Given the description of an element on the screen output the (x, y) to click on. 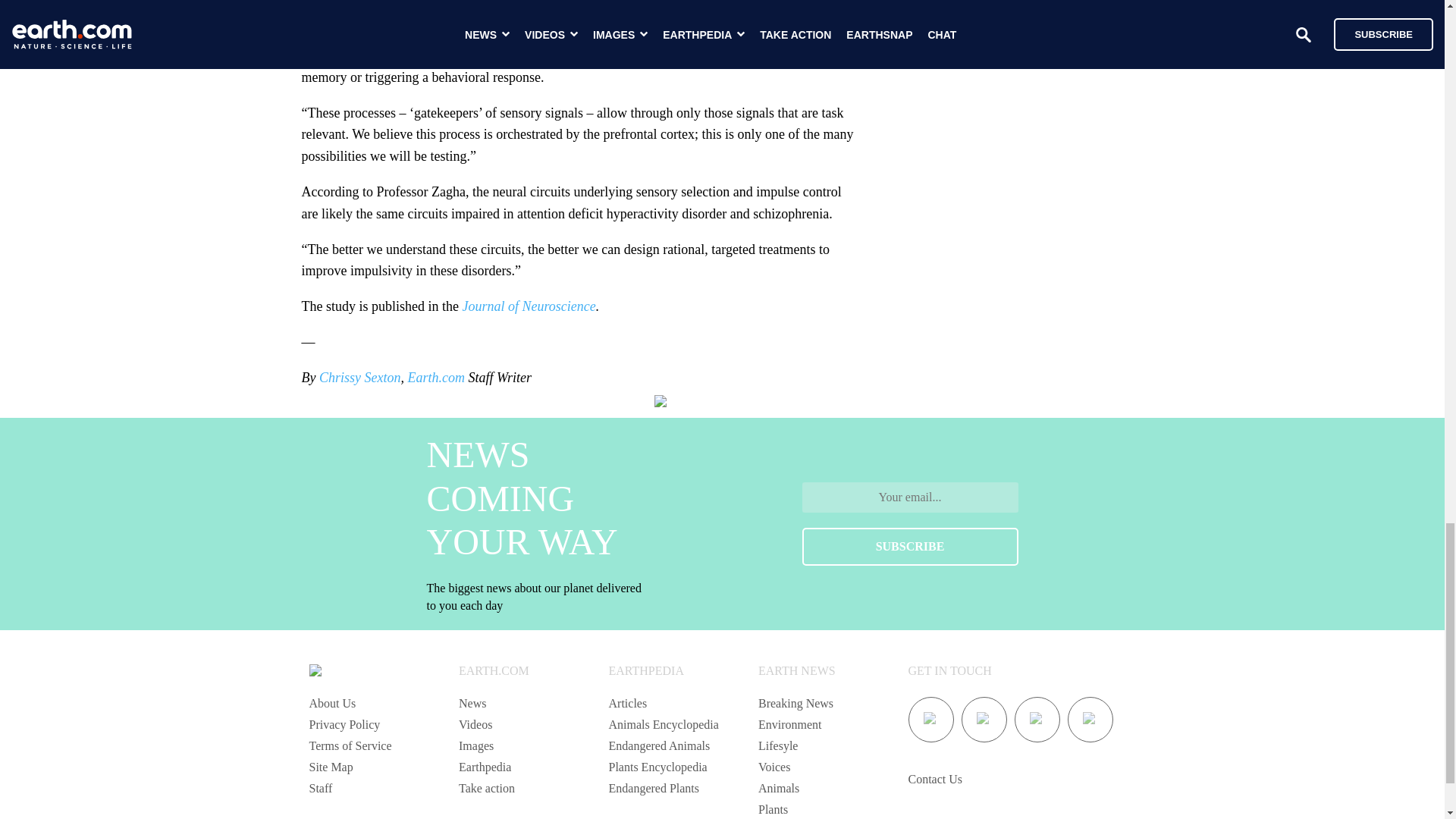
Chrissy Sexton (359, 377)
Journal of Neuroscience (528, 305)
SUBSCRIBE (909, 546)
Earth.com (435, 377)
